Given the description of an element on the screen output the (x, y) to click on. 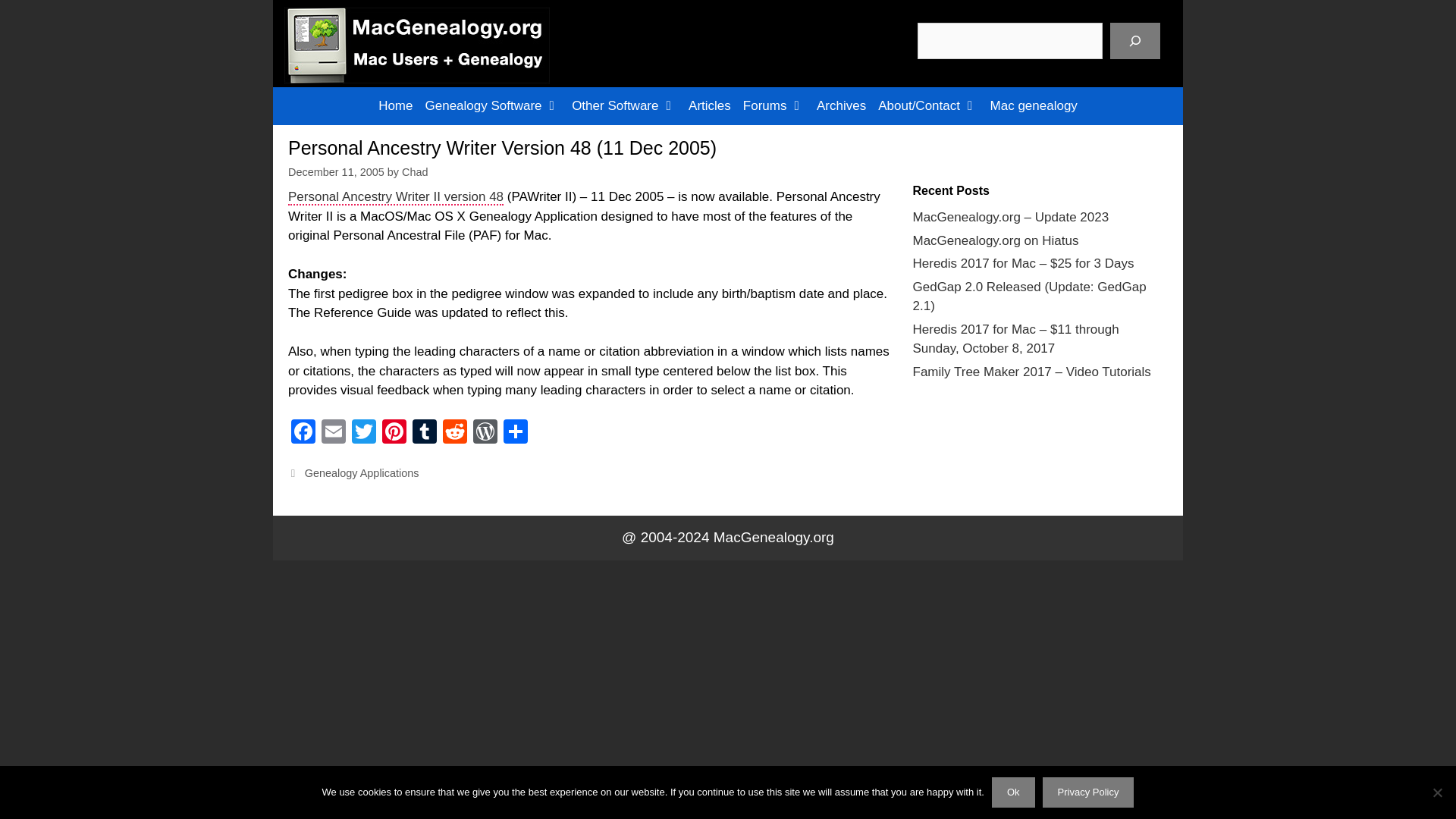
Genealogy Software (492, 105)
Other Software (624, 105)
Home (395, 105)
Articles (709, 105)
Forums (773, 105)
Archives (841, 105)
